Given the description of an element on the screen output the (x, y) to click on. 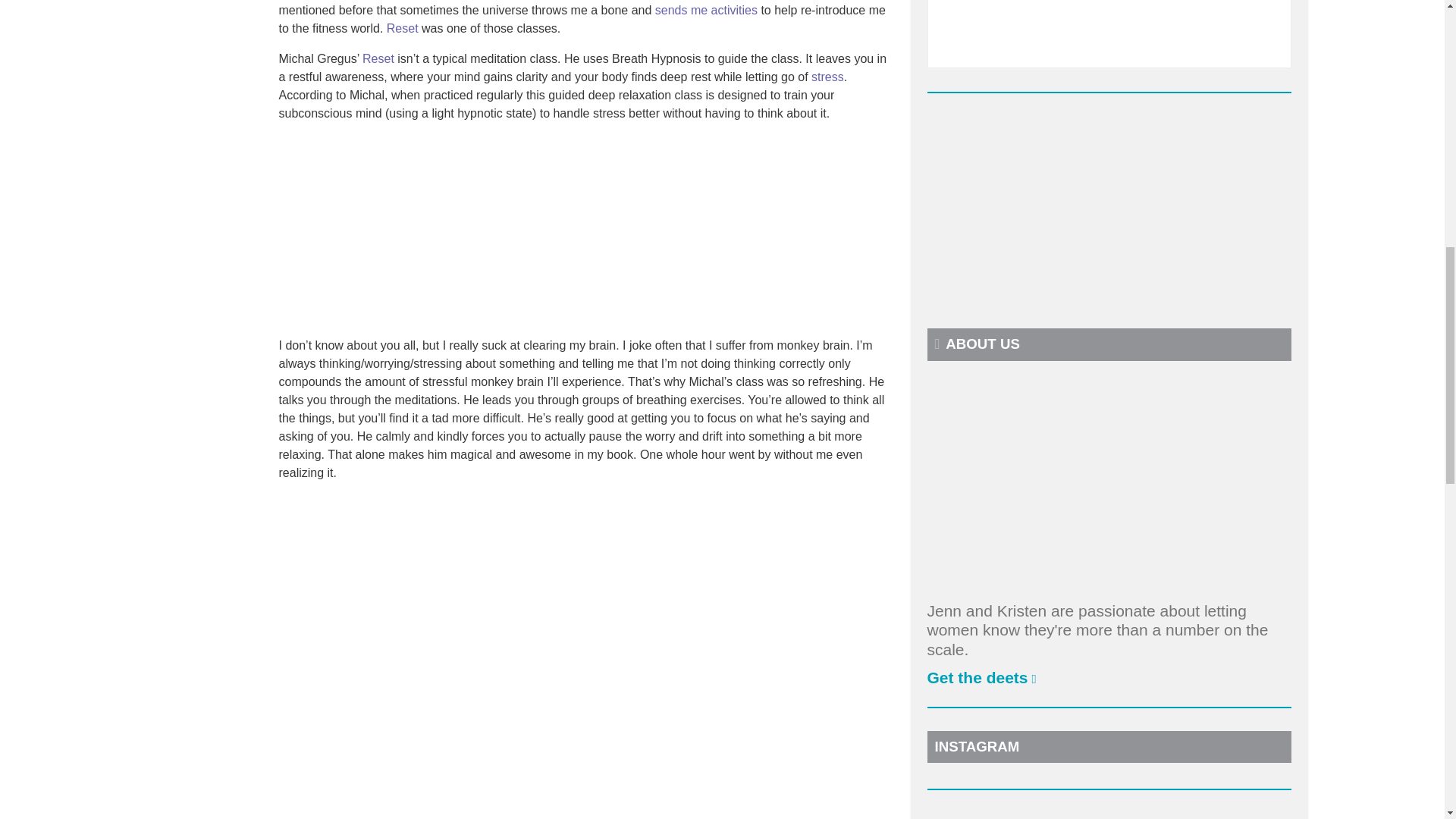
reset (378, 58)
stress relief (827, 76)
yoga tune up (706, 10)
Reset (403, 28)
